Given the description of an element on the screen output the (x, y) to click on. 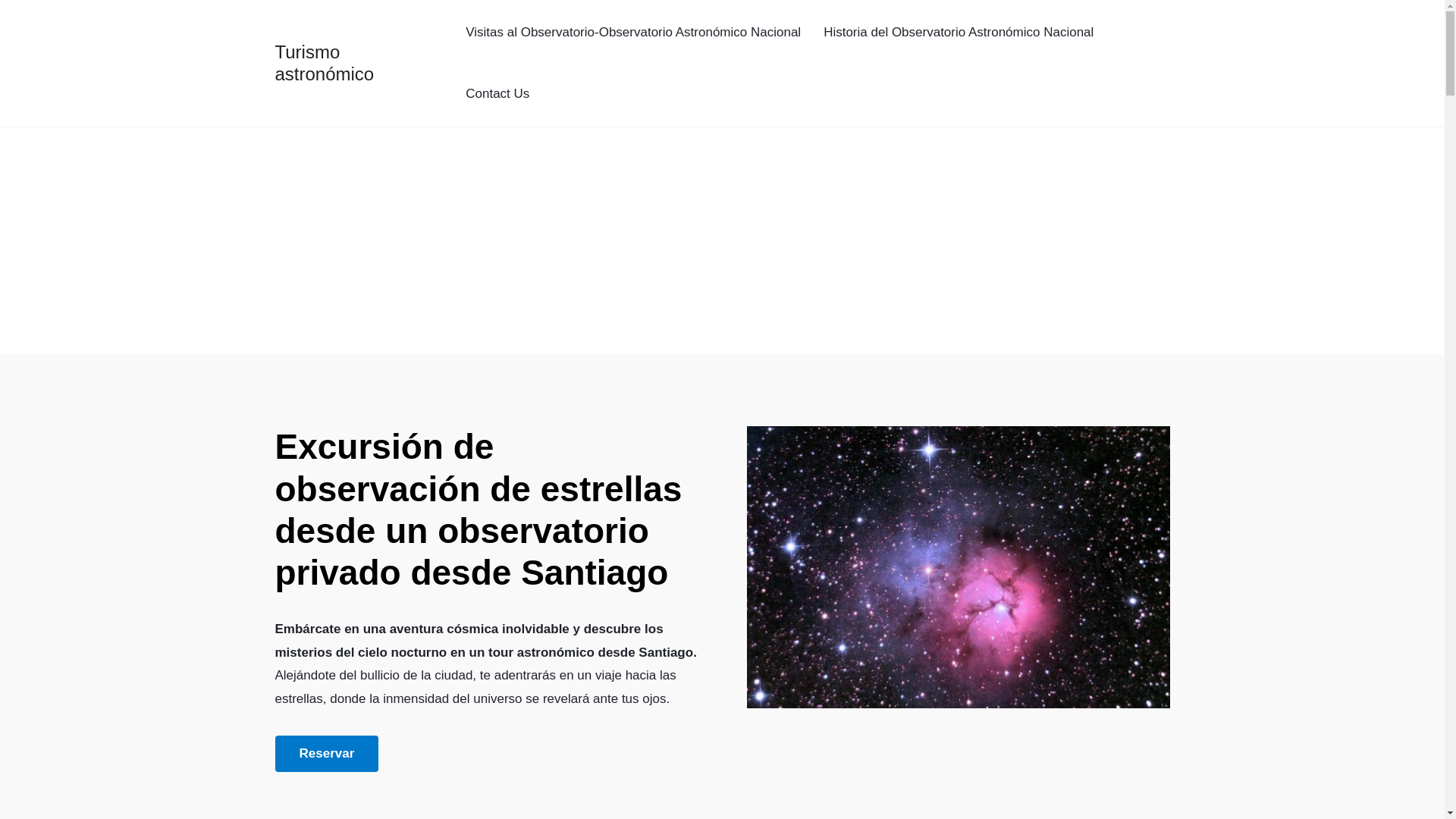
Reservar (326, 754)
Contact Us (497, 94)
